Given the description of an element on the screen output the (x, y) to click on. 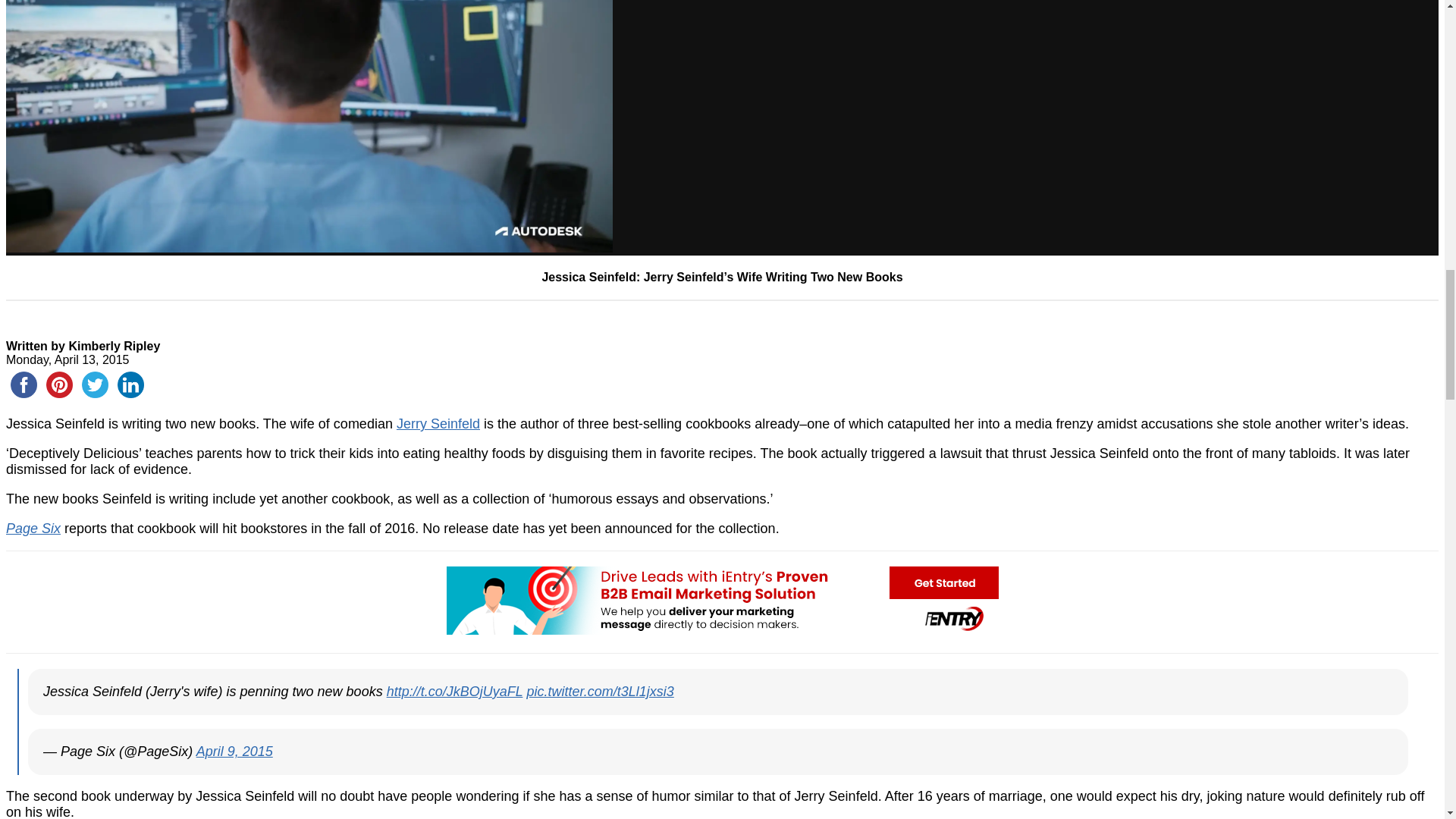
pinterest (59, 384)
Page Six (33, 528)
twitter (95, 384)
facebook (23, 384)
Jerry Seinfeld (438, 423)
linkedin (130, 384)
